Given the description of an element on the screen output the (x, y) to click on. 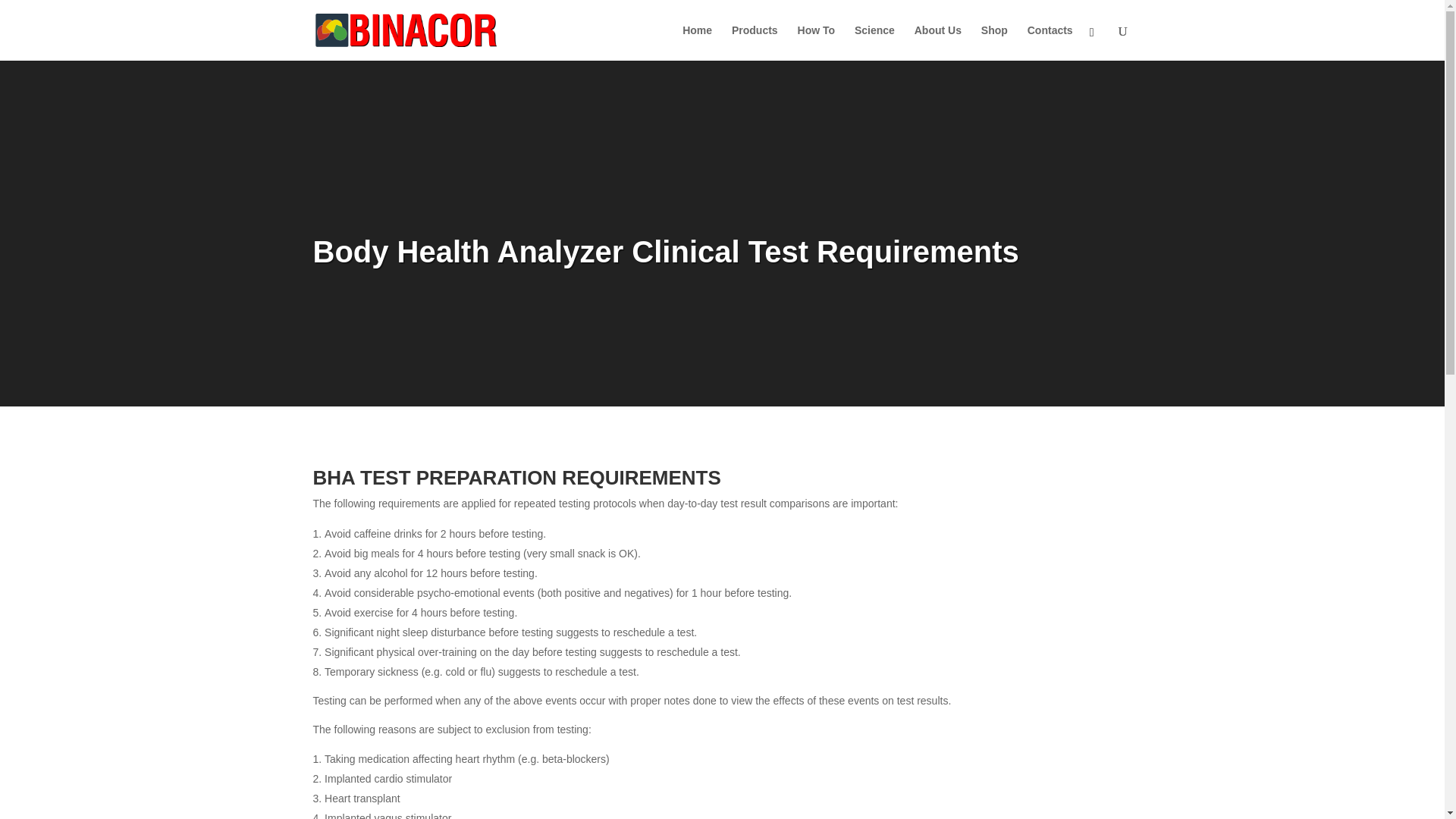
Products (754, 42)
About Us (937, 42)
Contacts (1050, 42)
How To (816, 42)
Science (874, 42)
